Given the description of an element on the screen output the (x, y) to click on. 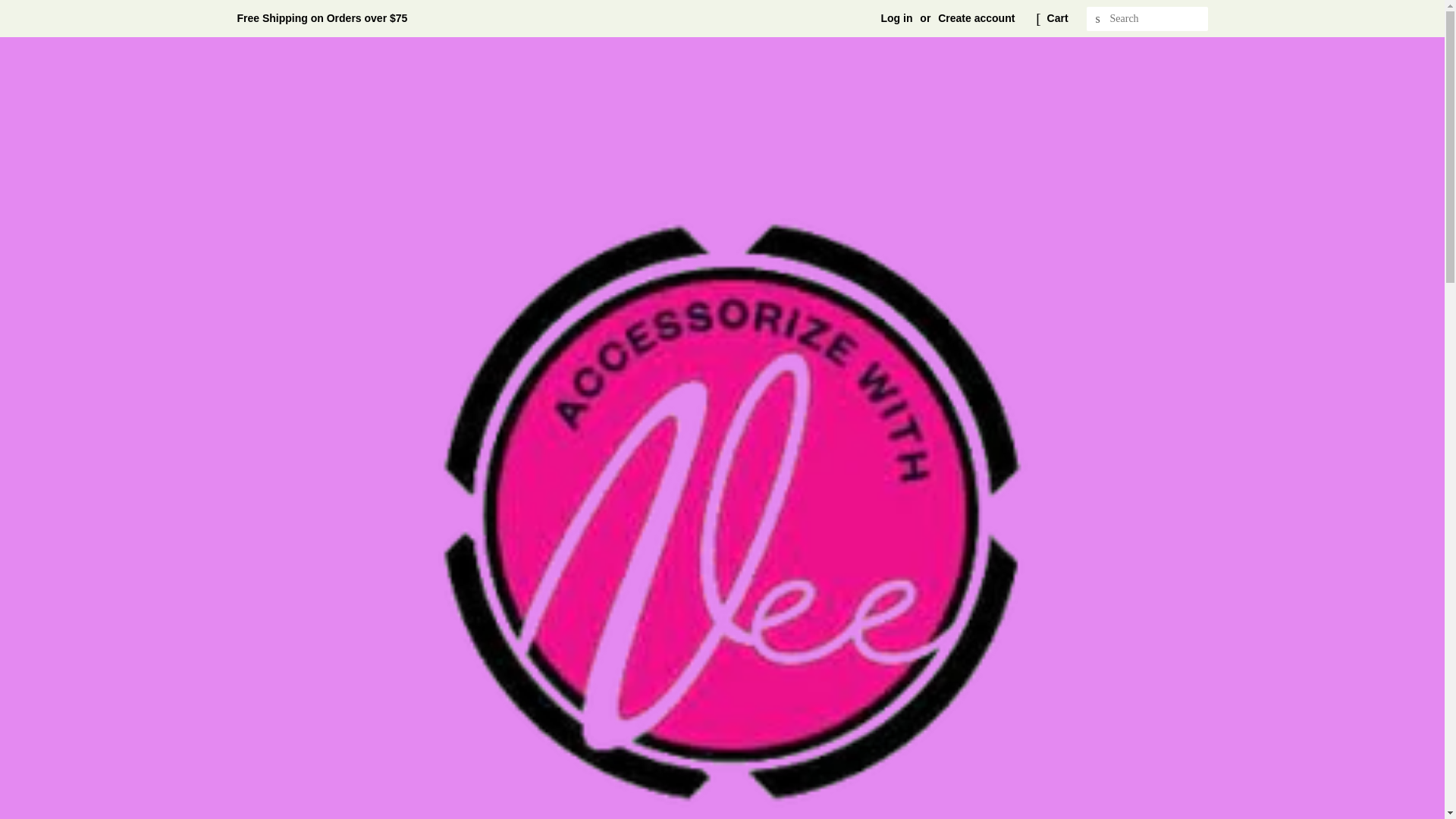
Log in (896, 18)
Create account (975, 18)
SEARCH (1097, 18)
Cart (1057, 18)
